Given the description of an element on the screen output the (x, y) to click on. 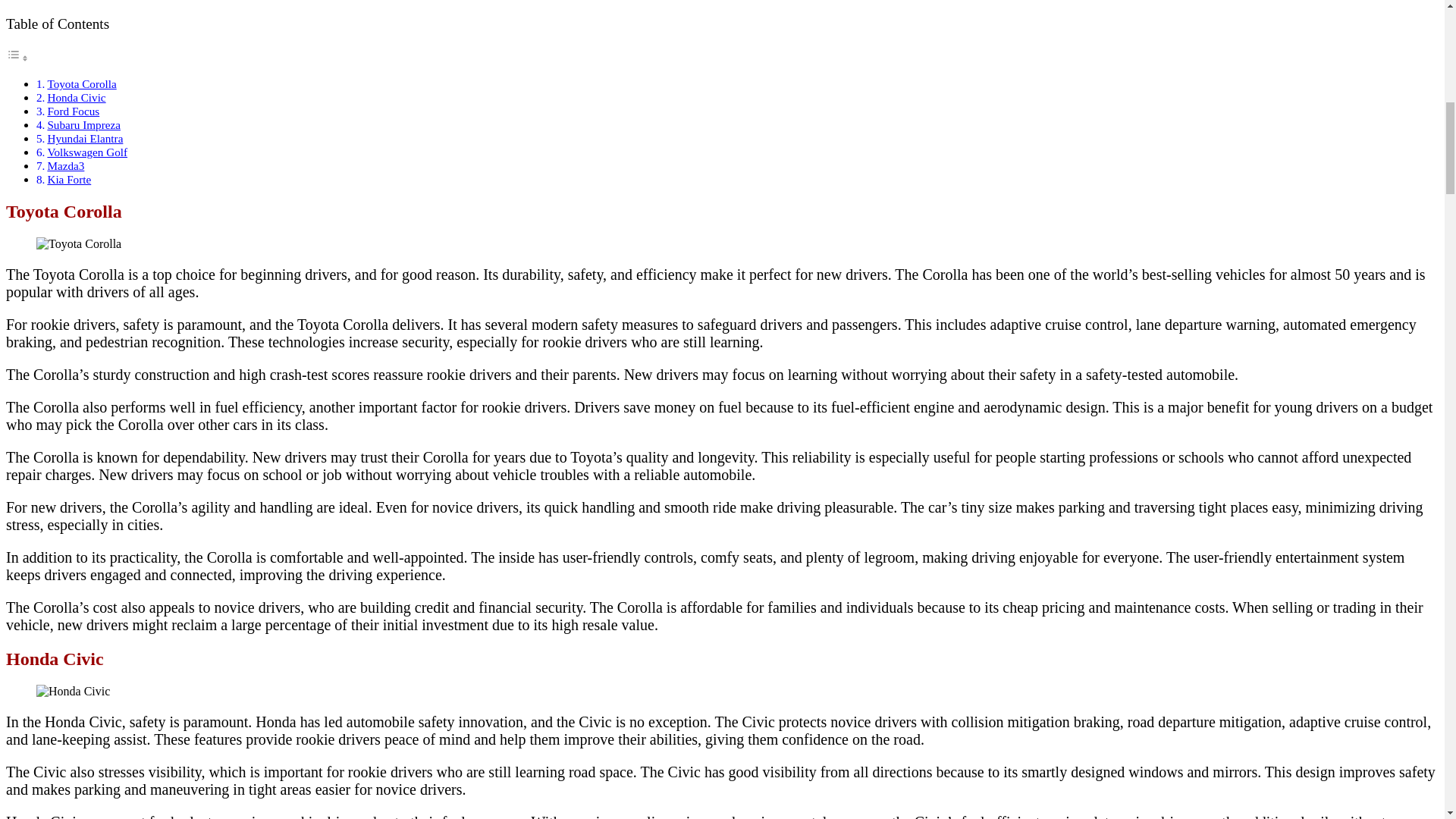
Hyundai Elantra (84, 137)
Kia Forte (68, 178)
Volkswagen Golf (87, 151)
Toyota Corolla (81, 83)
Honda Civic (75, 97)
Subaru Impreza (83, 124)
Ford Focus (72, 110)
Mazda3 (65, 164)
